Given the description of an element on the screen output the (x, y) to click on. 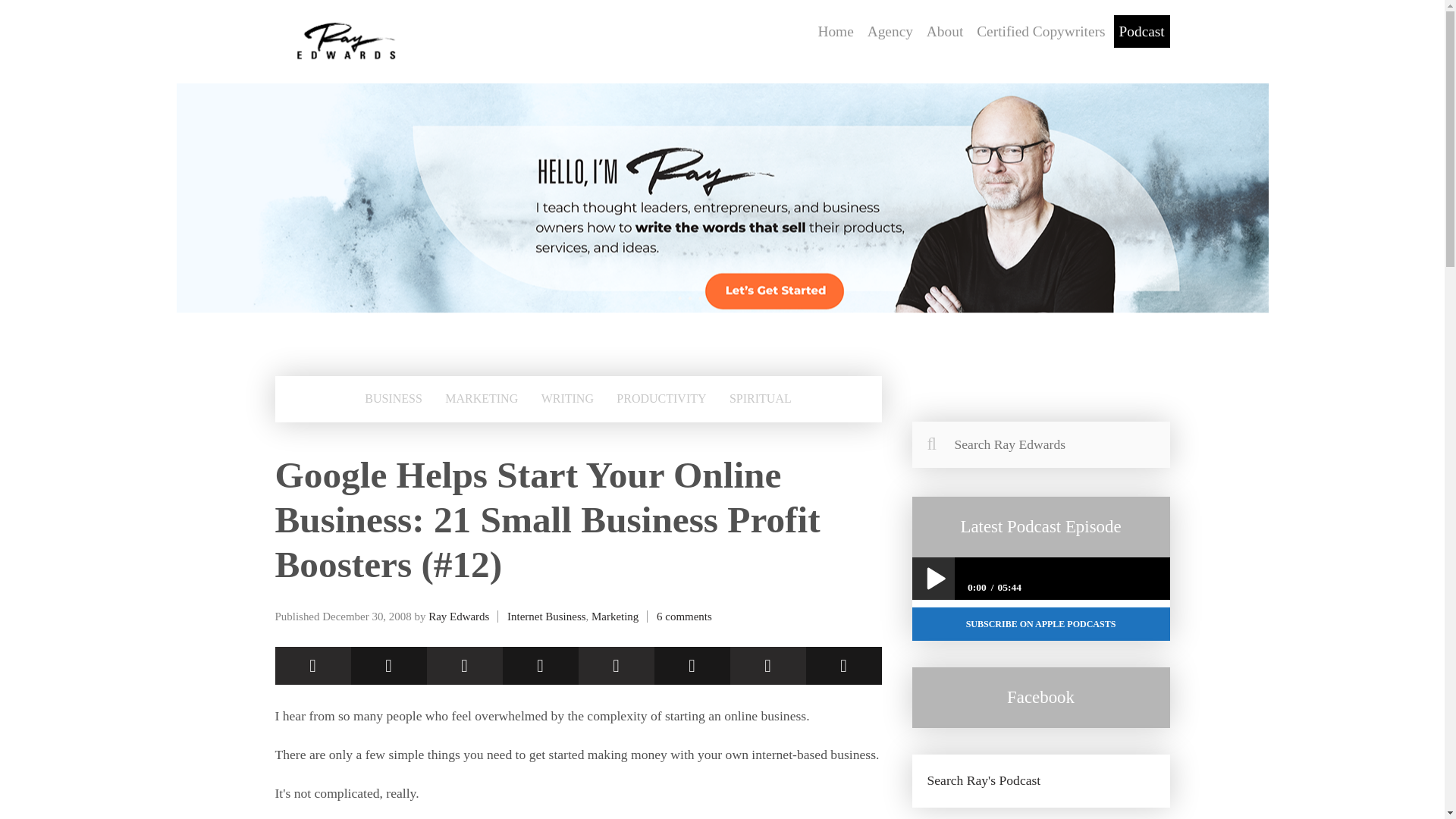
Certified Copywriters (1040, 31)
Home (835, 31)
MARKETING (480, 398)
WRITING (567, 398)
BUSINESS (392, 398)
Agency (889, 31)
Search for: (1040, 444)
PRODUCTIVITY (660, 398)
Podcast (1141, 31)
Ray Edwards (458, 616)
